Given the description of an element on the screen output the (x, y) to click on. 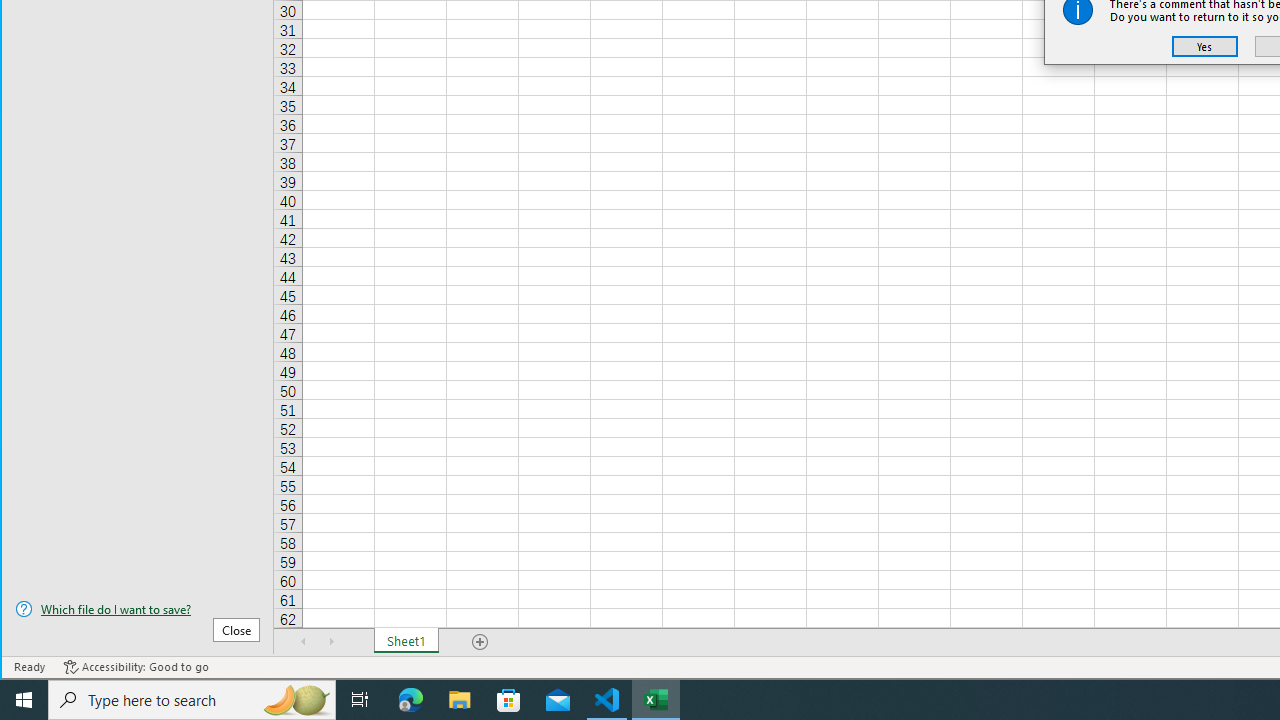
Excel - 1 running window (656, 699)
Yes (1205, 46)
Task View (359, 699)
